Given the description of an element on the screen output the (x, y) to click on. 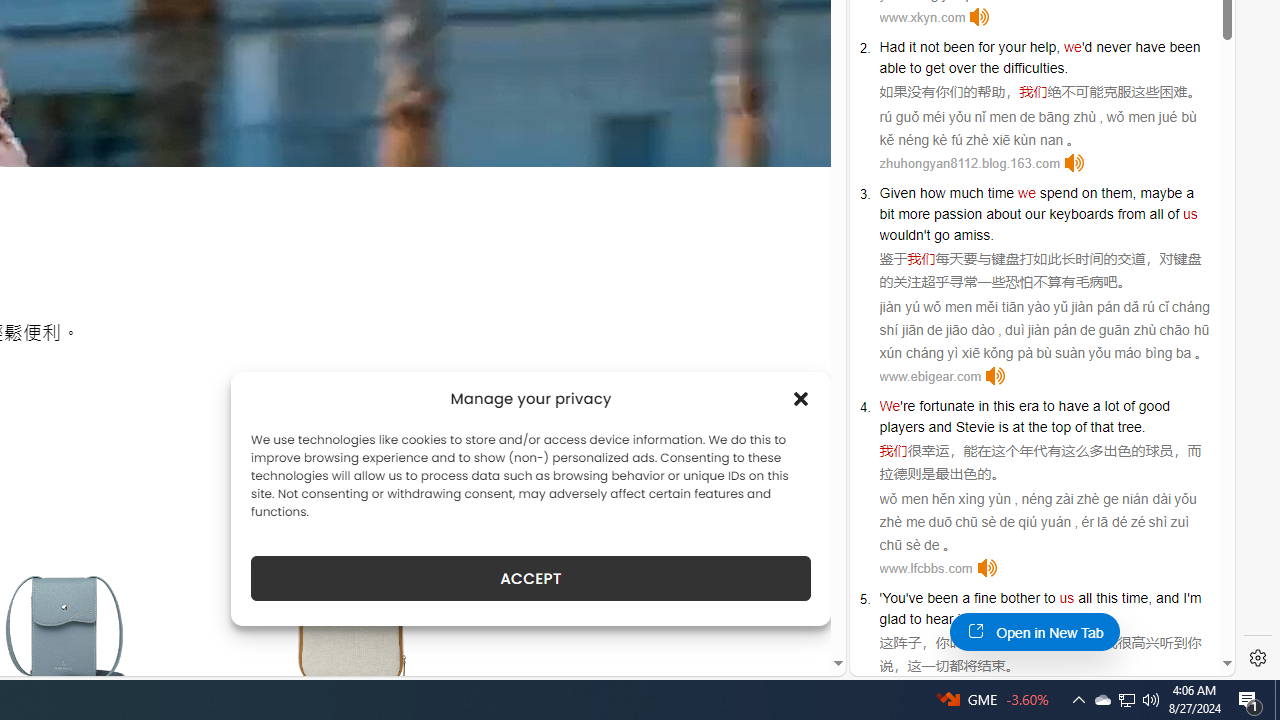
www.ebigear.com (930, 375)
time (1000, 192)
of (1173, 213)
your (1012, 46)
we (1026, 192)
